Given the description of an element on the screen output the (x, y) to click on. 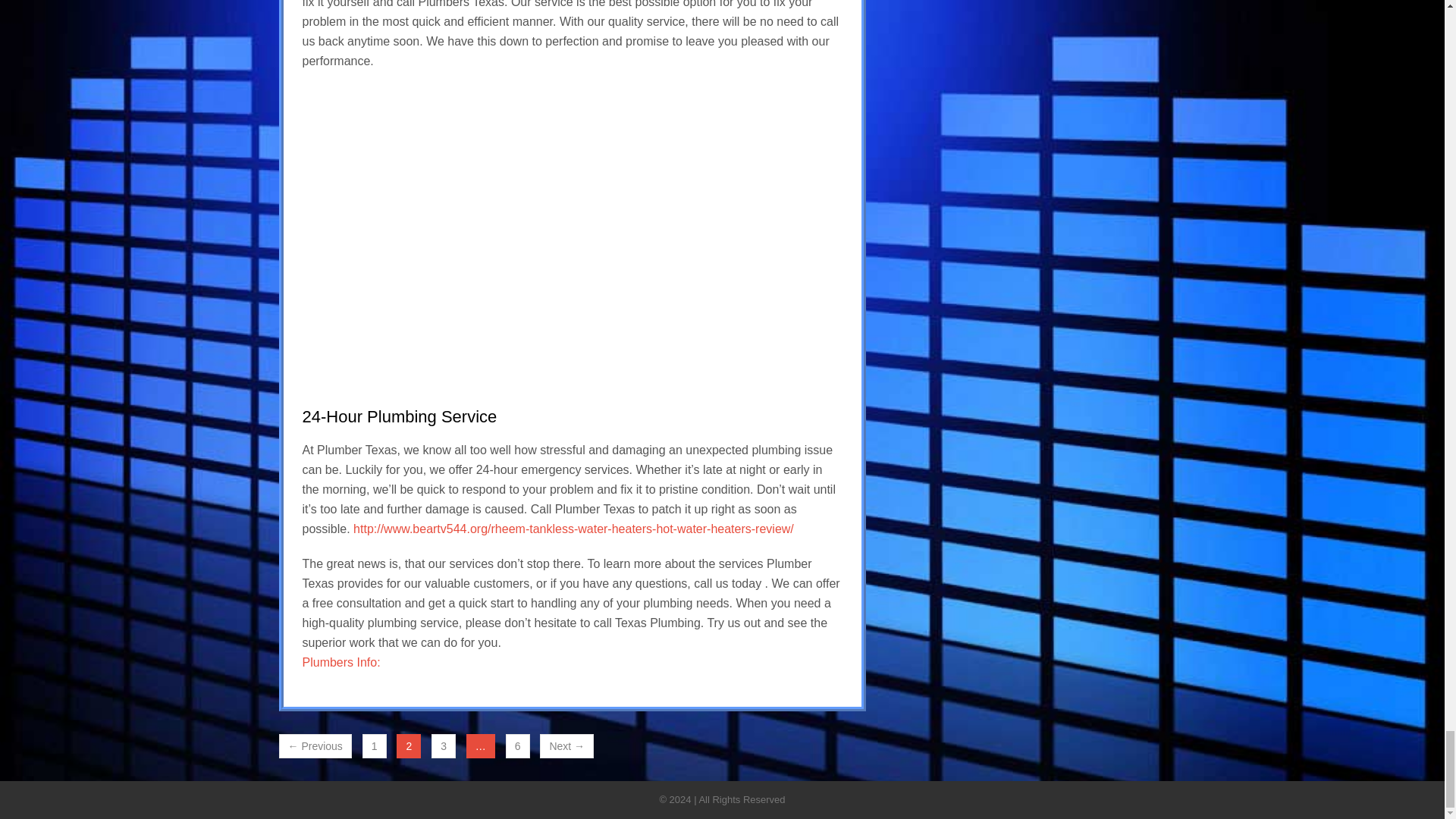
Plumbers Info: (340, 661)
3 (442, 745)
1 (374, 745)
6 (517, 745)
